Given the description of an element on the screen output the (x, y) to click on. 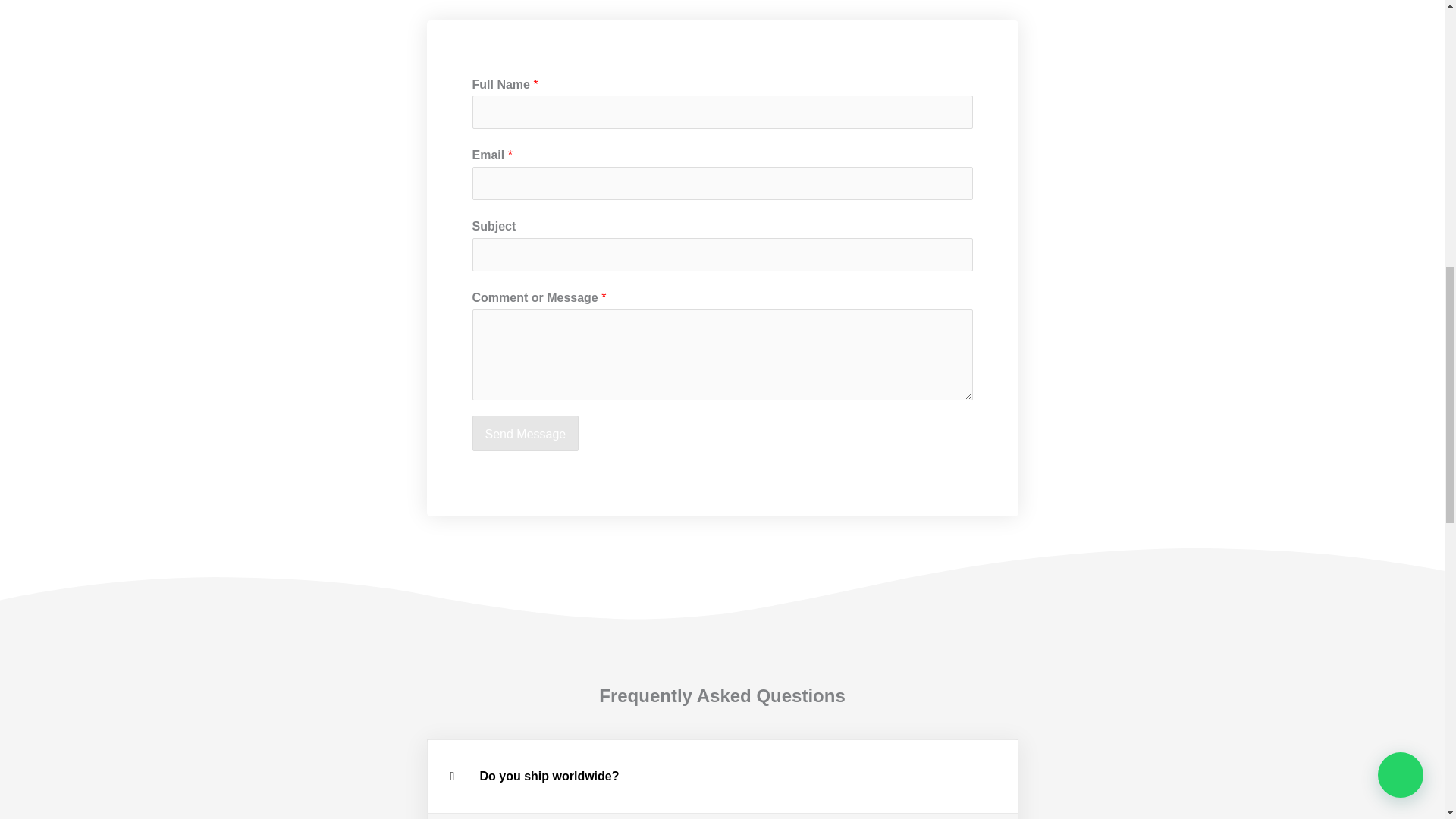
Do you ship worldwide? (548, 775)
Send Message (524, 433)
